Given the description of an element on the screen output the (x, y) to click on. 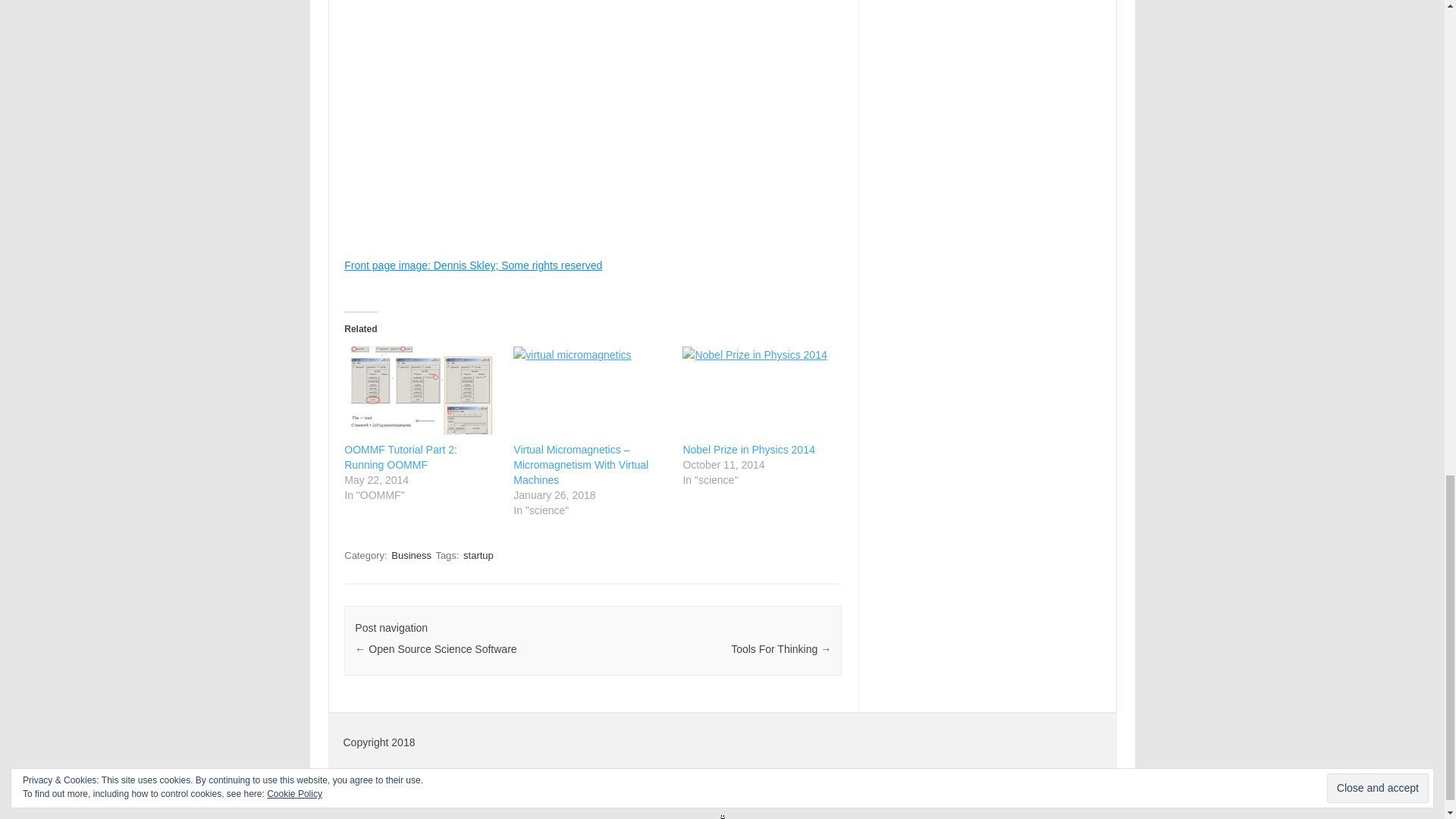
OOMMF Tutorial Part 2: Running OOMMF (420, 390)
OOMMF Tutorial Part 2: Running OOMMF (400, 456)
Nobel Prize in Physics 2014 (747, 449)
Iconic One (947, 784)
Nobel Prize in Physics 2014 (747, 449)
Business (411, 554)
Go to Dennis Skley's photostream (421, 265)
Wordpress (1091, 784)
Some rights reserved (551, 265)
Nobel Prize in Physics 2014 (758, 390)
